Given the description of an element on the screen output the (x, y) to click on. 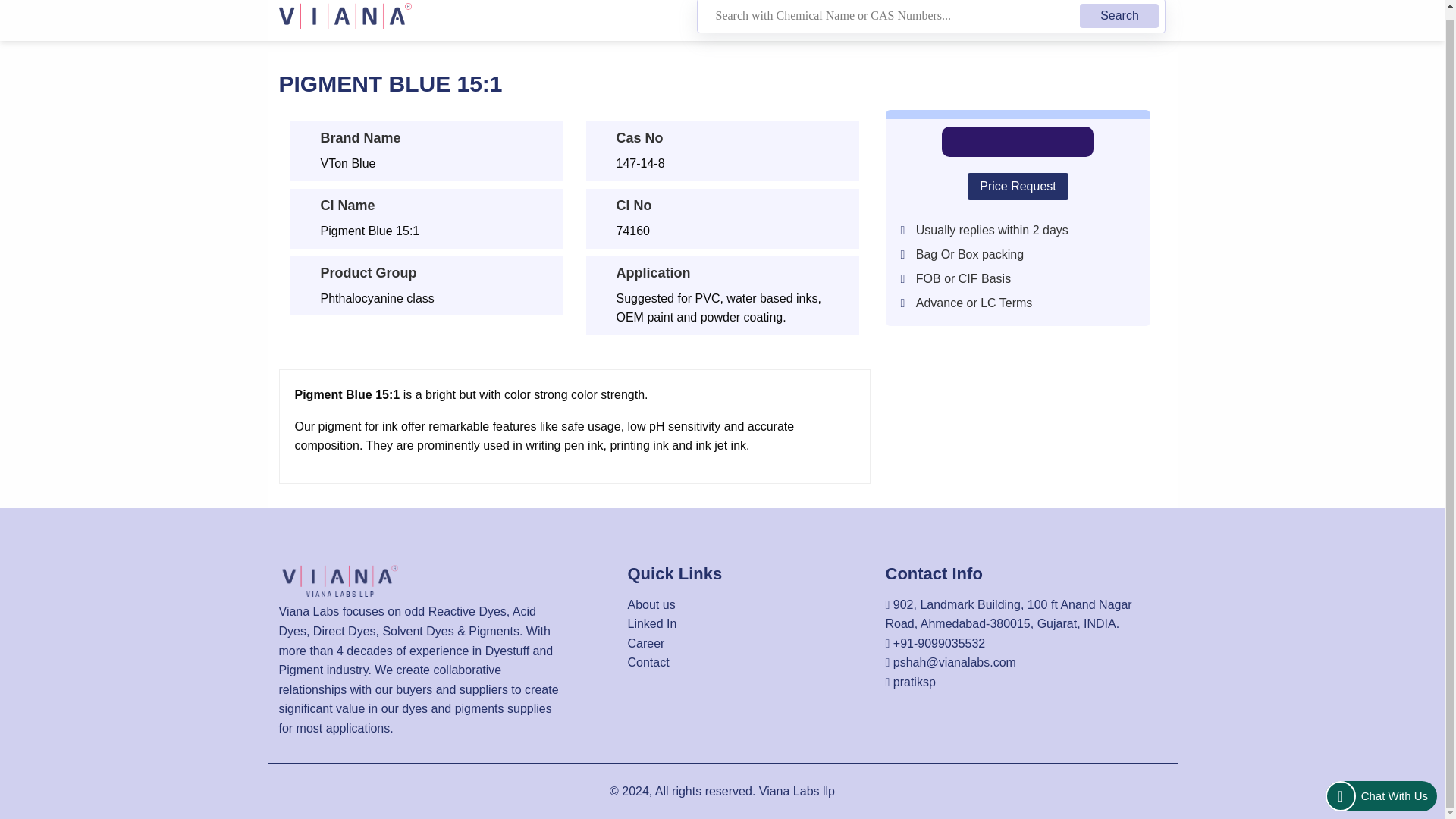
Contact (648, 662)
pratiksp (914, 681)
Price Request (1018, 185)
963 (72, 11)
About us (651, 604)
Career (646, 643)
Linked In (652, 623)
